Given the description of an element on the screen output the (x, y) to click on. 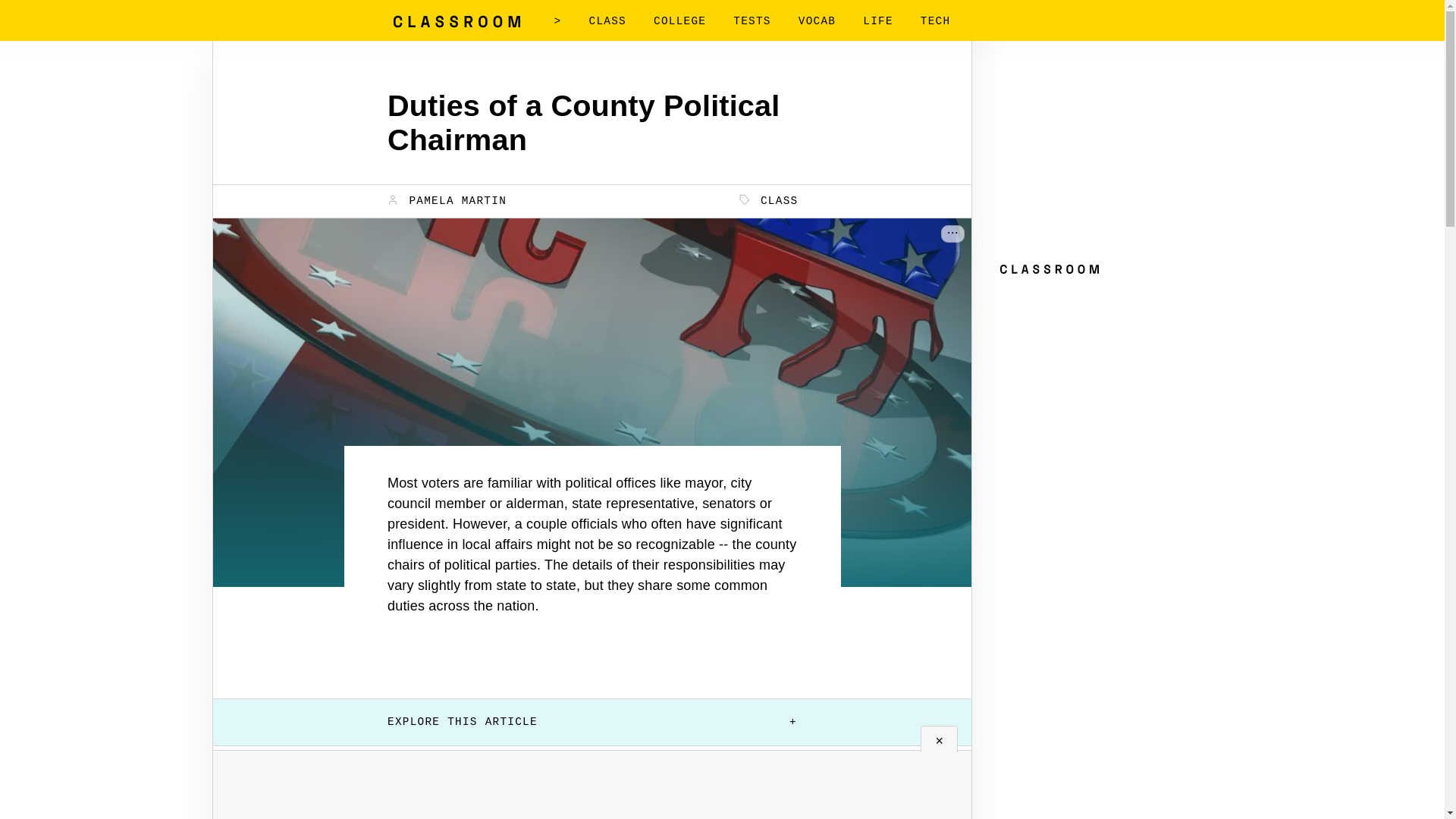
LIFE (878, 21)
VOCAB (816, 21)
TECH (935, 21)
COLLEGE (679, 21)
TESTS (751, 21)
CLASS (768, 200)
CLASS (607, 21)
